Given the description of an element on the screen output the (x, y) to click on. 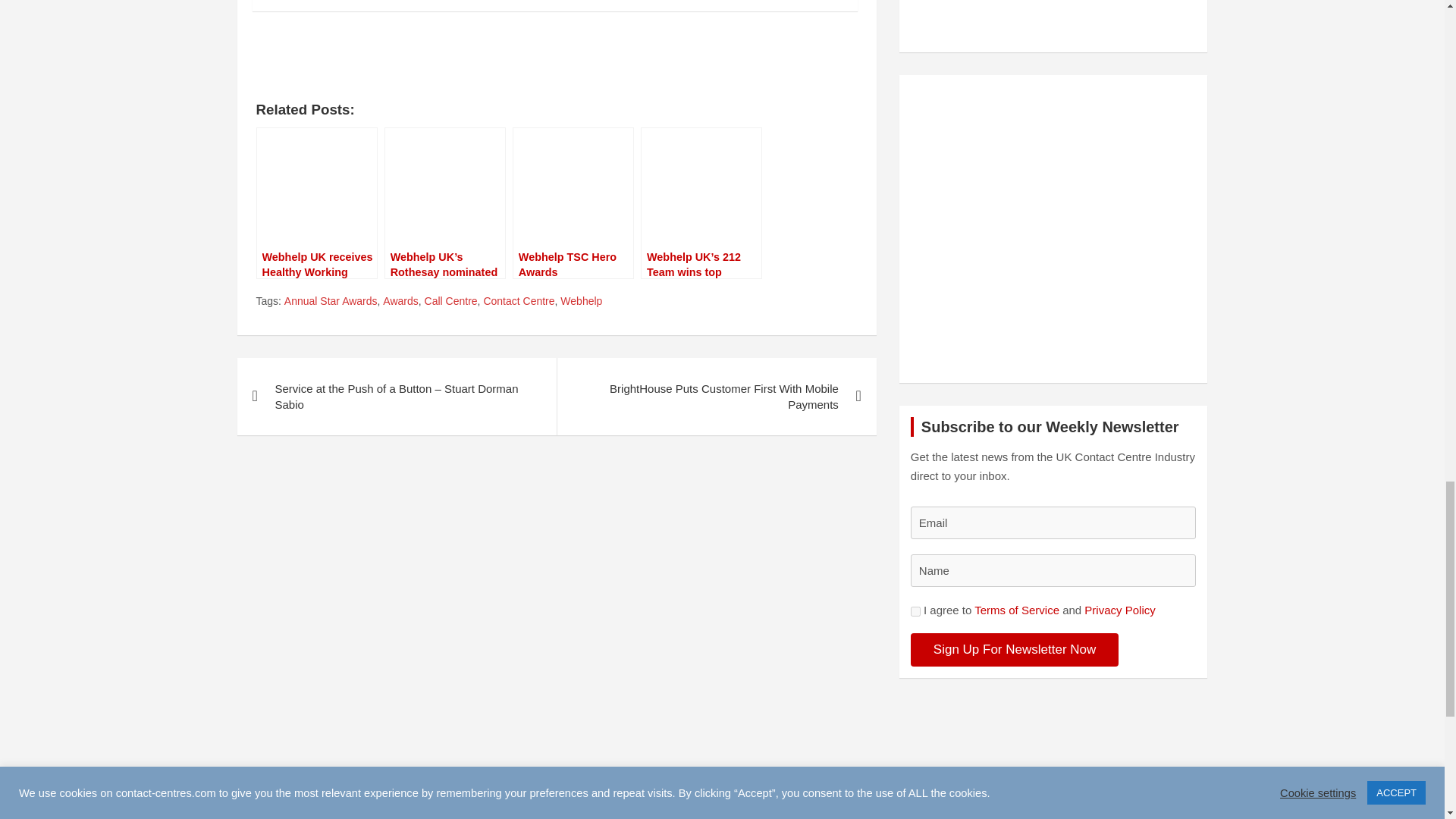
1 (915, 611)
Email (1053, 522)
Annual Star Awards (330, 301)
Sign Up For Newsletter Now (1014, 649)
Name (1053, 570)
